Given the description of an element on the screen output the (x, y) to click on. 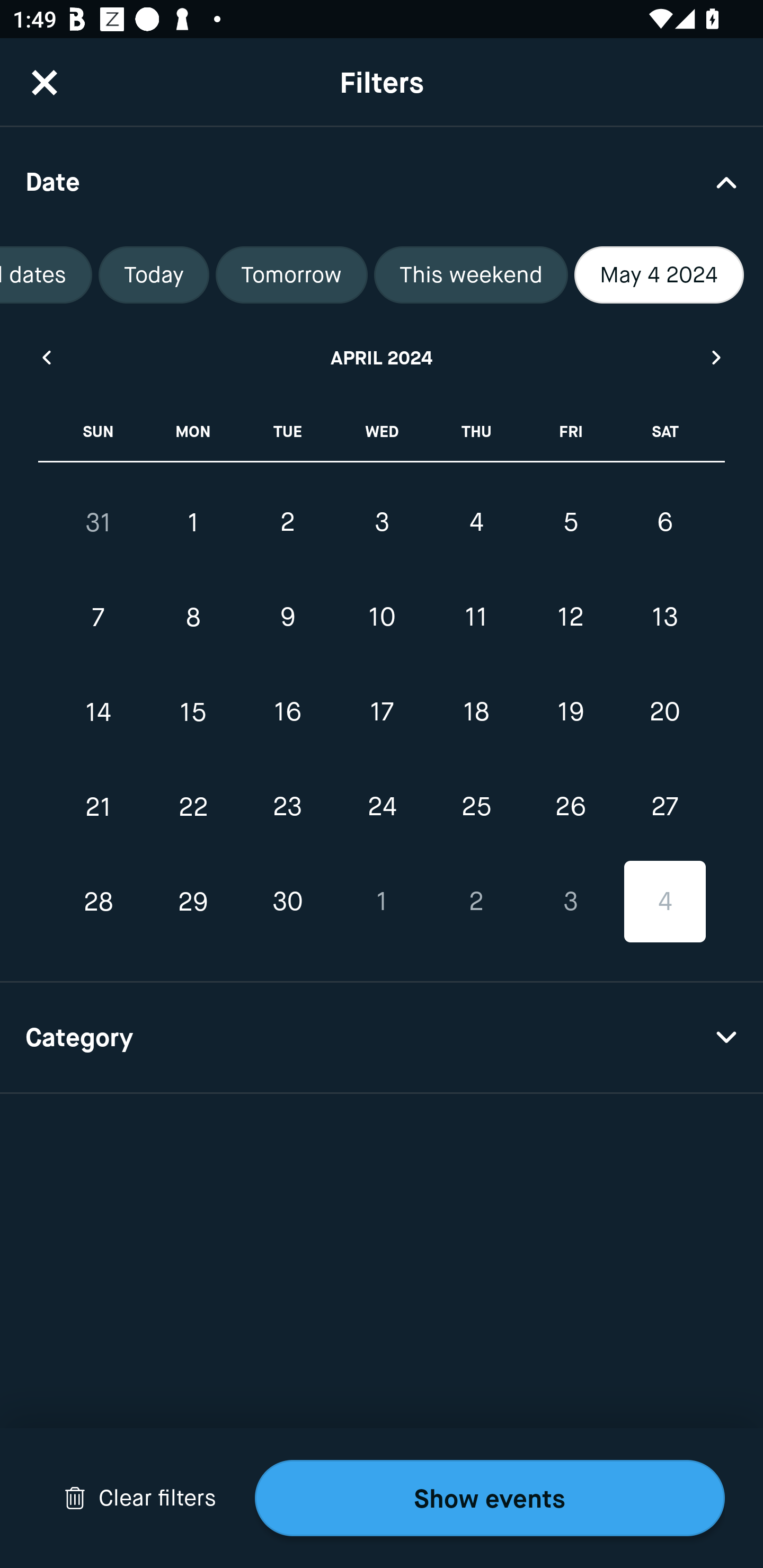
CloseButton (44, 82)
Date Drop Down Arrow (381, 181)
Today (153, 274)
Tomorrow (291, 274)
This weekend (470, 274)
May 4 2024 (658, 274)
Previous (45, 357)
Next (717, 357)
31 (98, 522)
1 (192, 522)
2 (287, 522)
3 (381, 522)
4 (475, 522)
5 (570, 522)
6 (664, 522)
7 (98, 617)
8 (192, 617)
9 (287, 617)
10 (381, 617)
11 (475, 617)
12 (570, 617)
13 (664, 617)
14 (98, 711)
15 (192, 711)
16 (287, 711)
17 (381, 711)
18 (475, 711)
19 (570, 711)
20 (664, 711)
21 (98, 806)
22 (192, 806)
23 (287, 806)
24 (381, 806)
25 (475, 806)
26 (570, 806)
27 (664, 806)
28 (98, 901)
29 (192, 901)
30 (287, 901)
1 (381, 901)
2 (475, 901)
3 (570, 901)
4 (664, 901)
Category Drop Down Arrow (381, 1038)
Drop Down Arrow Clear filters (139, 1497)
Show events (489, 1497)
